Given the description of an element on the screen output the (x, y) to click on. 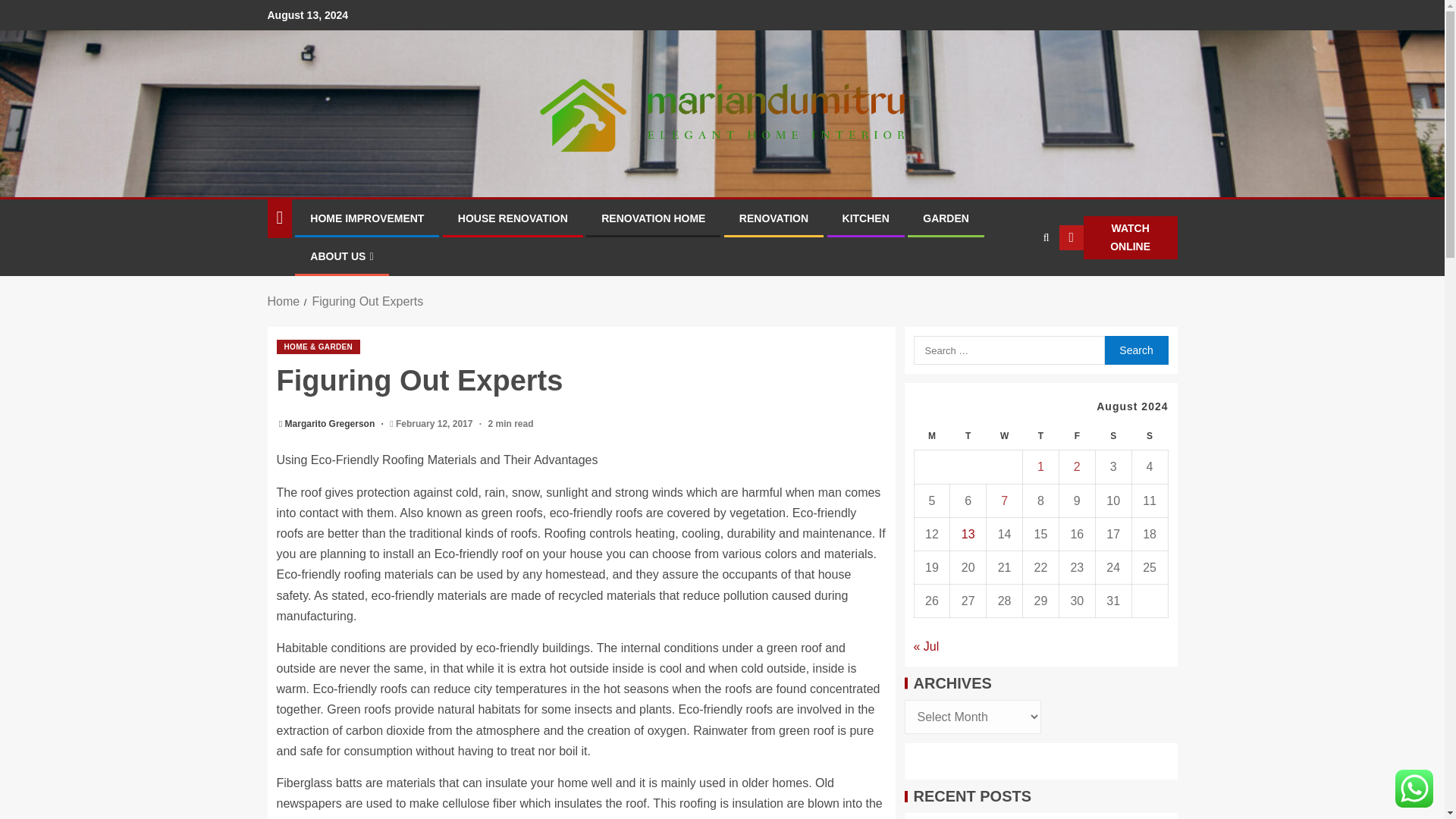
Figuring Out Experts (367, 300)
Wednesday (1005, 436)
HOME IMPROVEMENT (366, 218)
Friday (1076, 436)
Search (1135, 349)
Home (282, 300)
RENOVATION (773, 218)
RENOVATION HOME (652, 218)
Saturday (1112, 436)
Search (1015, 284)
